Given the description of an element on the screen output the (x, y) to click on. 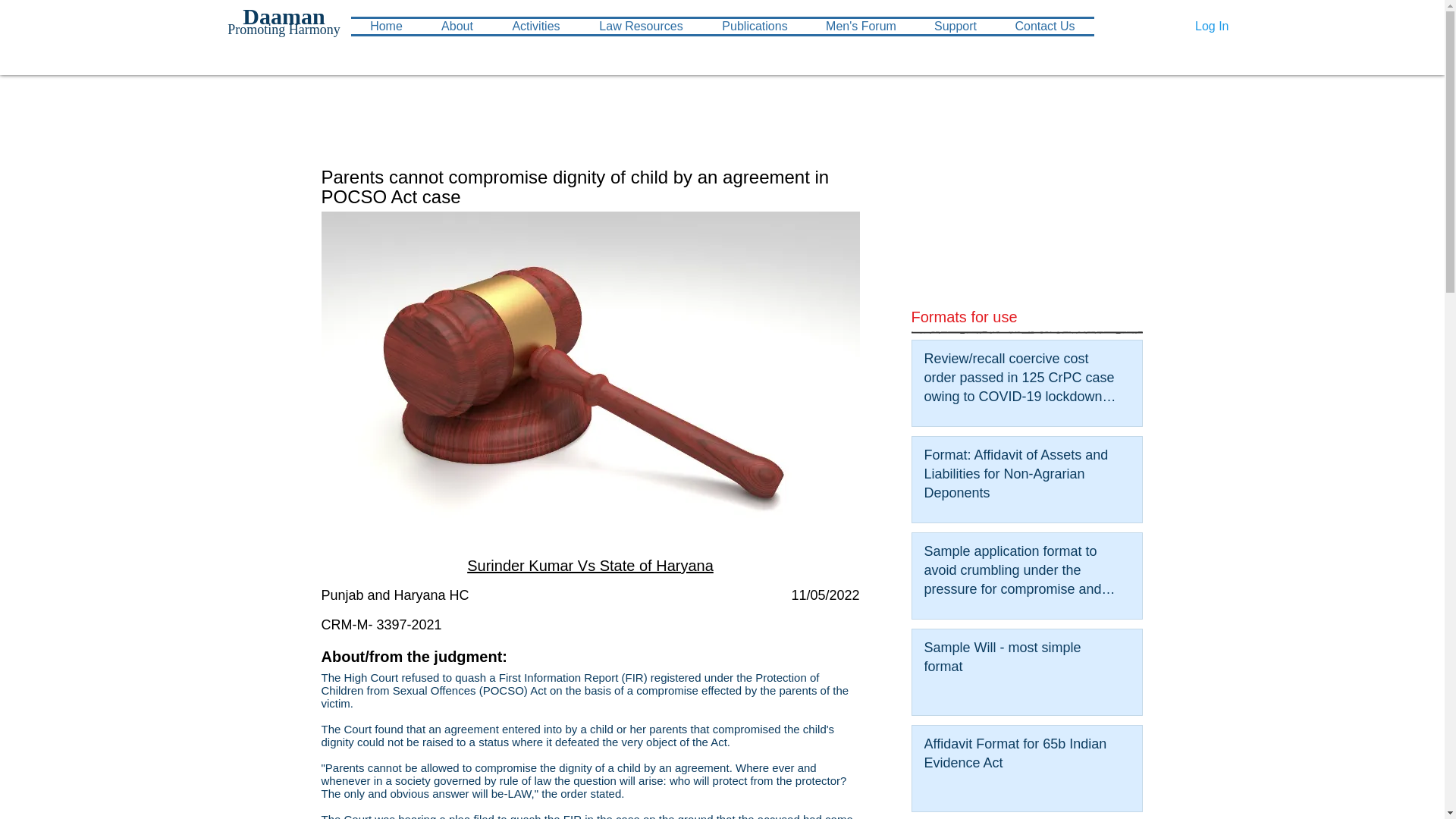
About (457, 26)
Affidavit Format for 65b Indian Evidence Act (1021, 756)
Support (954, 26)
Sample Will - most simple format (1021, 660)
Log In (1212, 26)
Home (386, 26)
Men's Forum (860, 26)
